Given the description of an element on the screen output the (x, y) to click on. 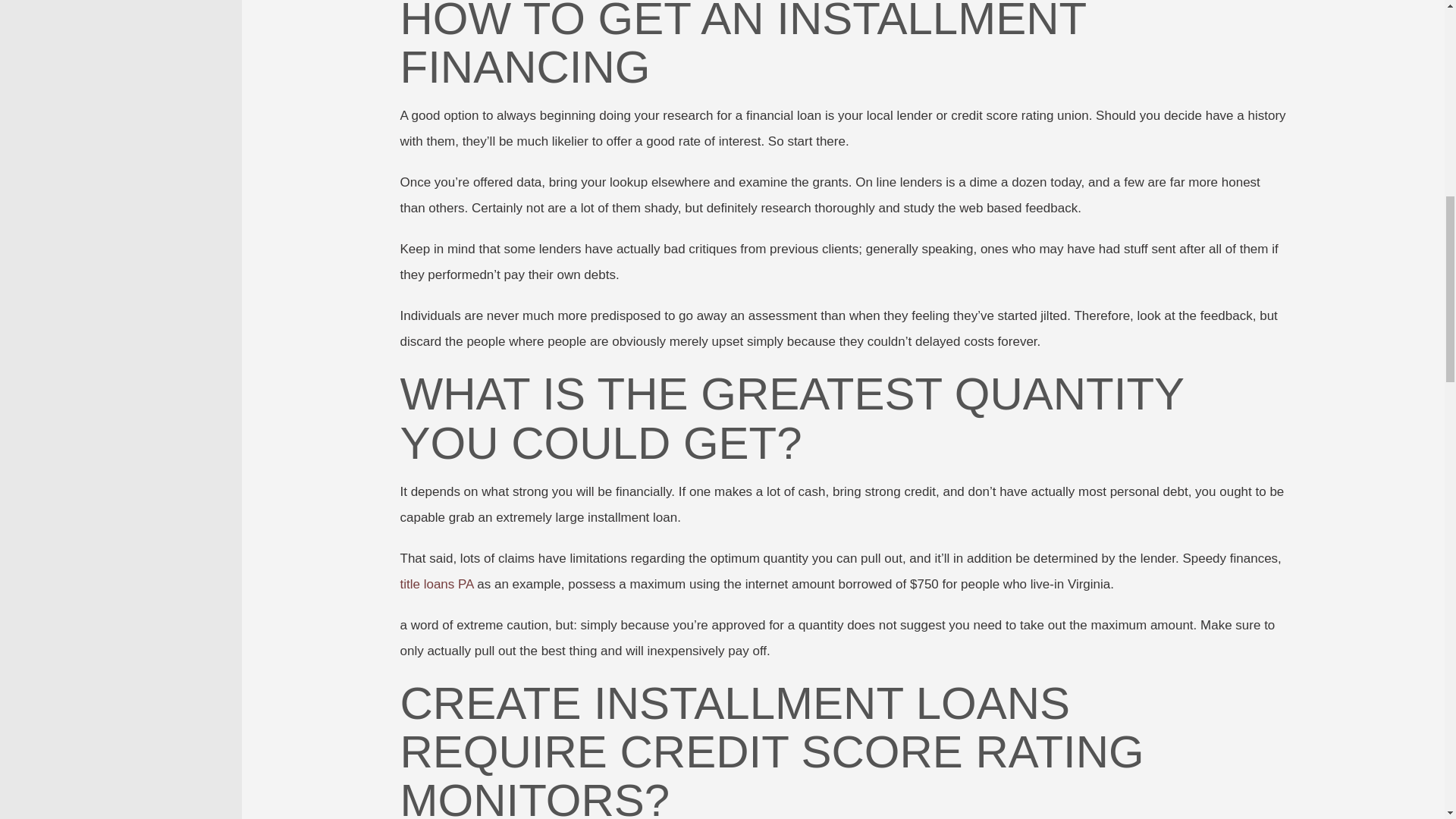
title loans PA (437, 584)
